Given the description of an element on the screen output the (x, y) to click on. 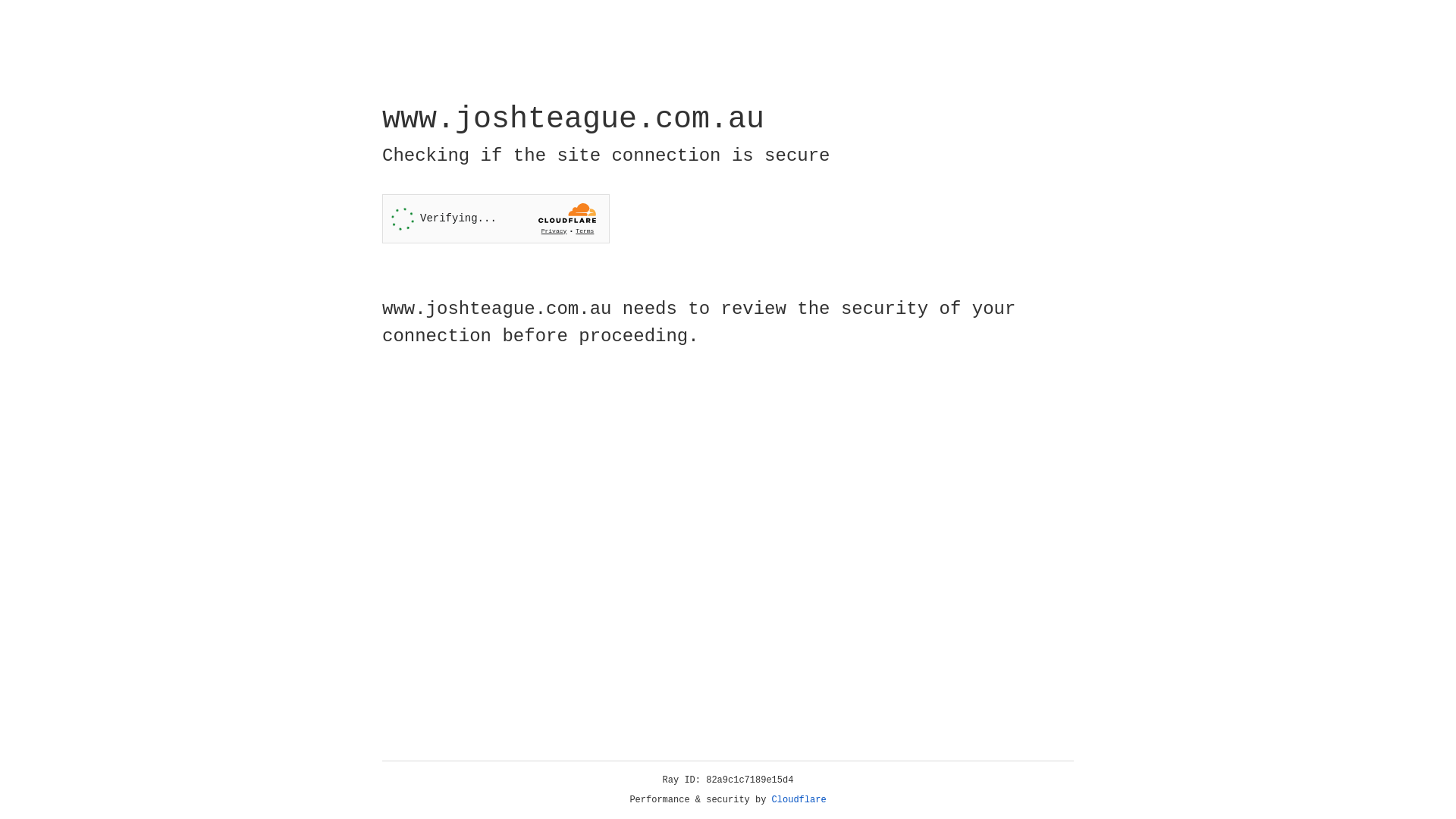
Cloudflare Element type: text (798, 799)
Widget containing a Cloudflare security challenge Element type: hover (495, 218)
